Given the description of an element on the screen output the (x, y) to click on. 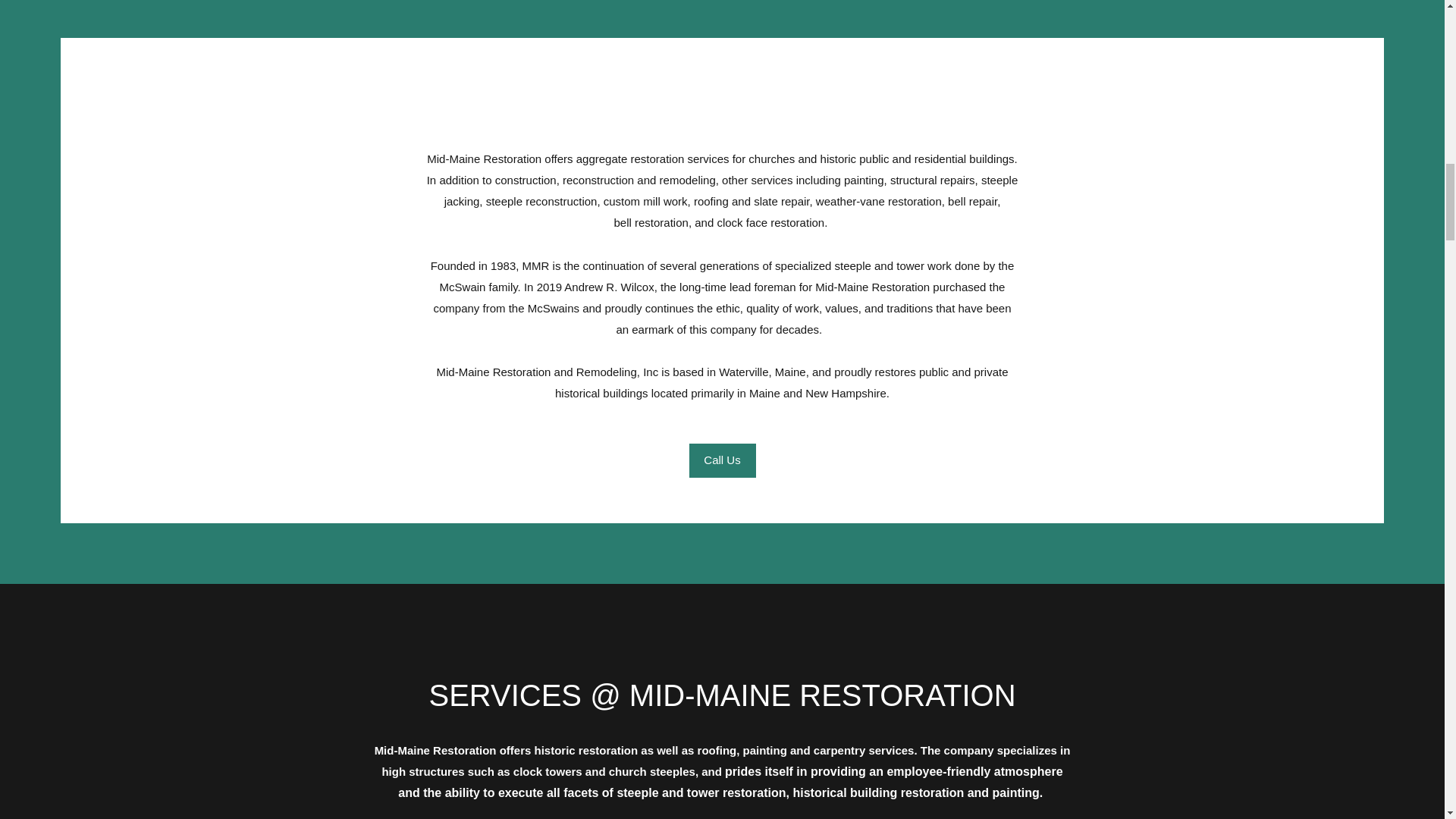
Call Us (721, 460)
